Given the description of an element on the screen output the (x, y) to click on. 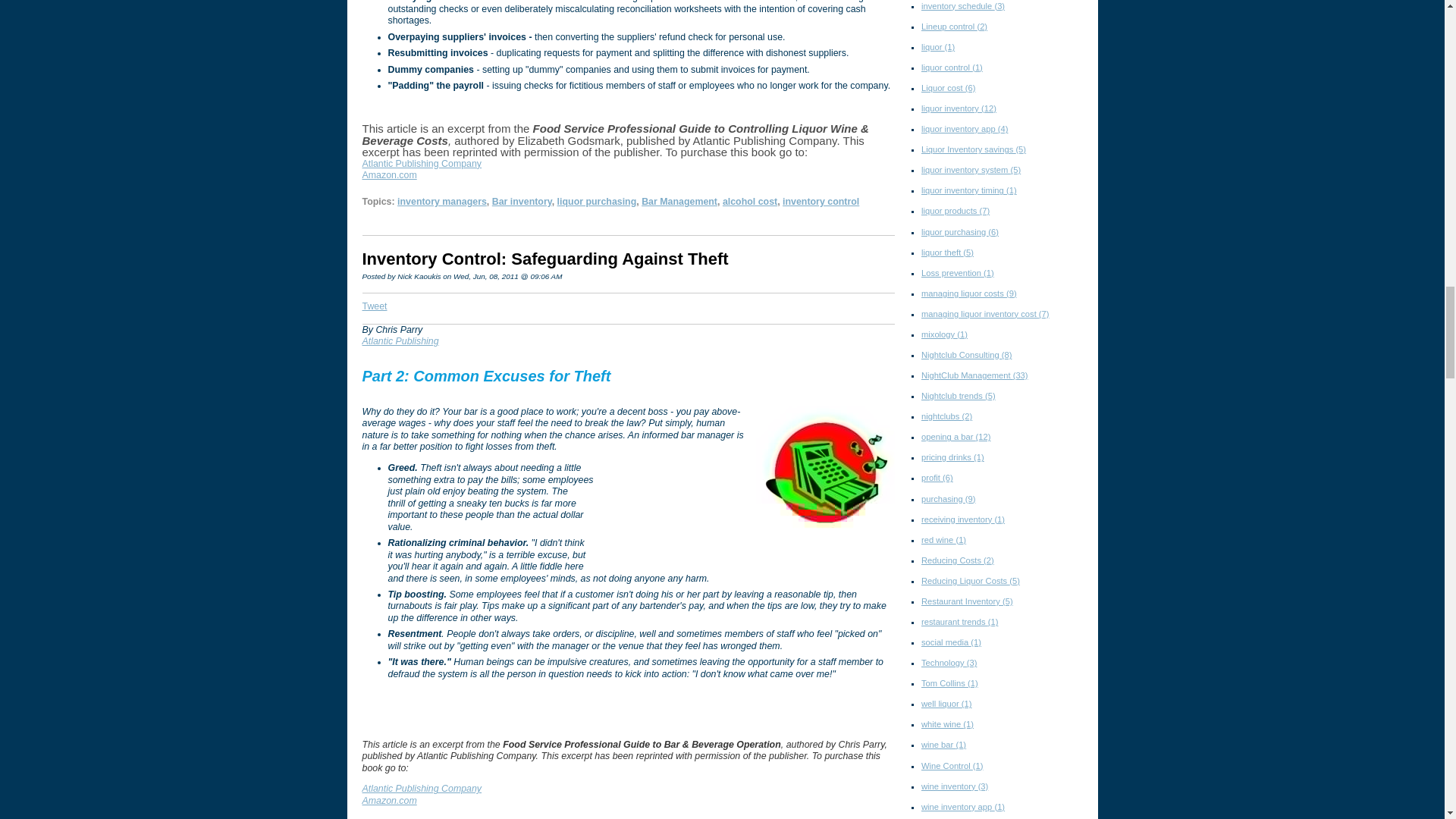
Atlantic Publishing Company (421, 787)
Amazon.com (389, 800)
Amazon.com (389, 174)
Atlantic Publishing Company (421, 163)
Atlantic Publishing (400, 340)
